Given the description of an element on the screen output the (x, y) to click on. 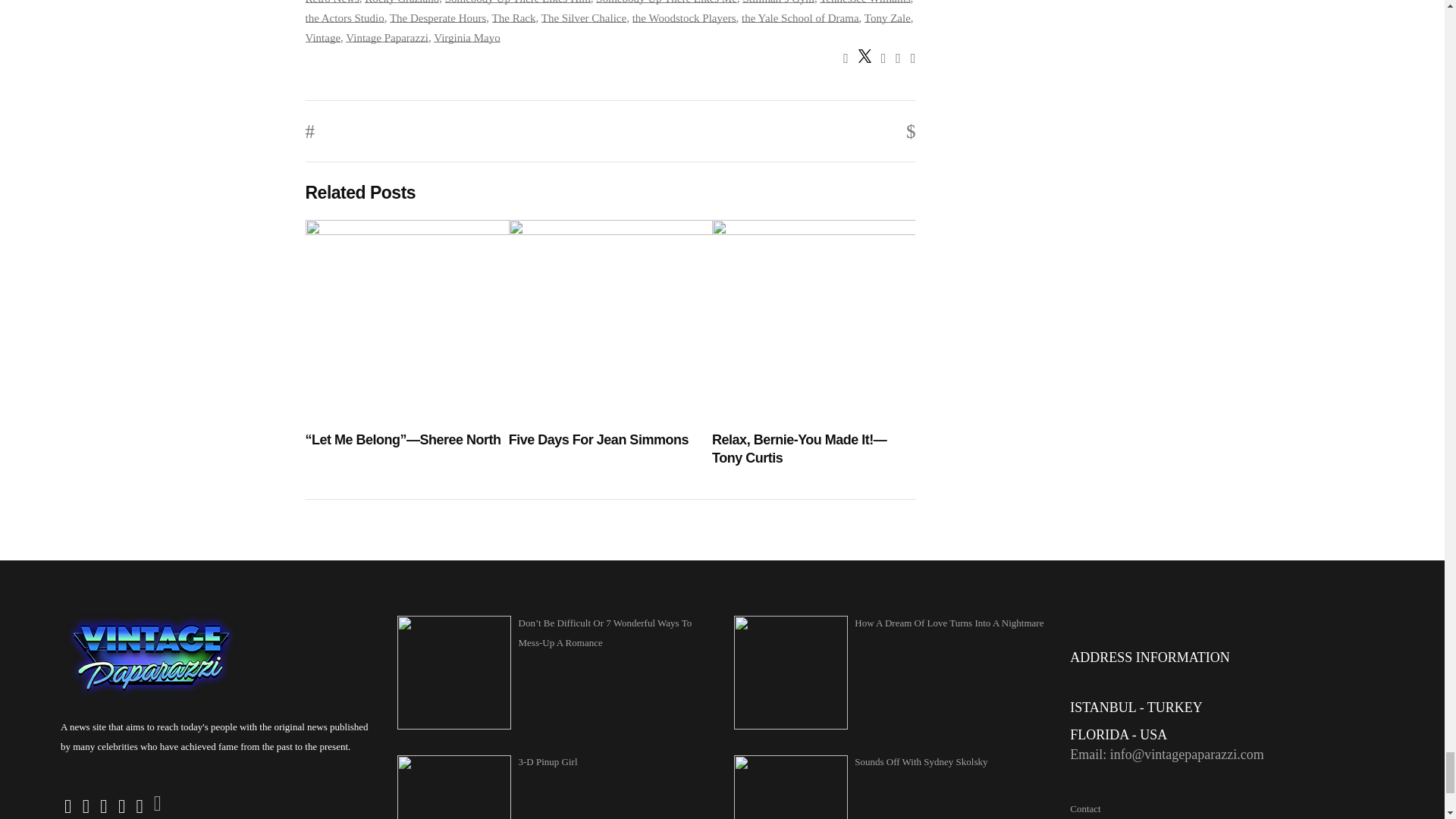
Five Days For Jean Simmons (609, 439)
